Given the description of an element on the screen output the (x, y) to click on. 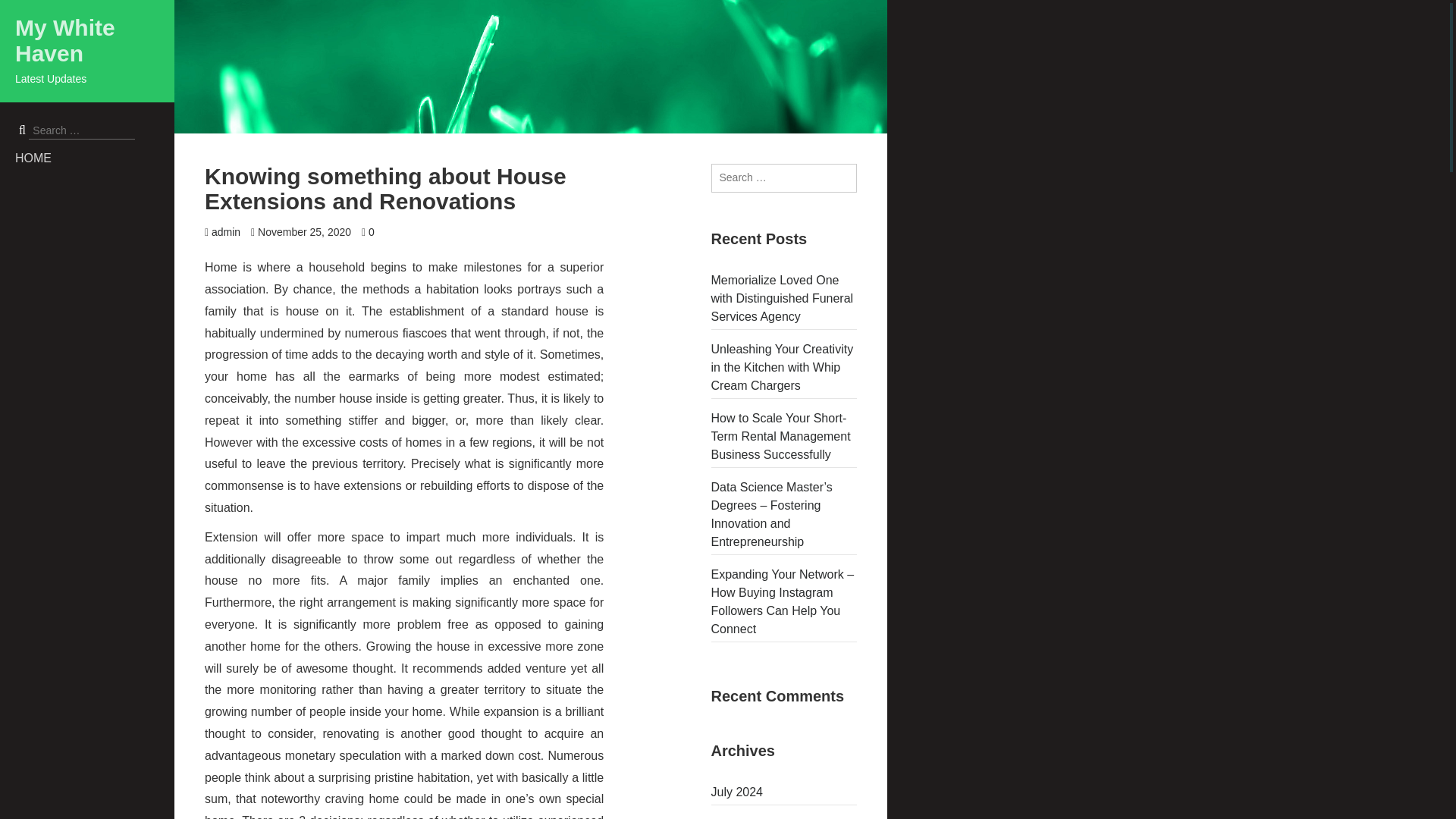
June 2024 (784, 816)
HOME (94, 158)
Search (24, 11)
My White Haven (64, 40)
admin (225, 232)
July 2024 (784, 792)
Posts by admin (225, 232)
